Given the description of an element on the screen output the (x, y) to click on. 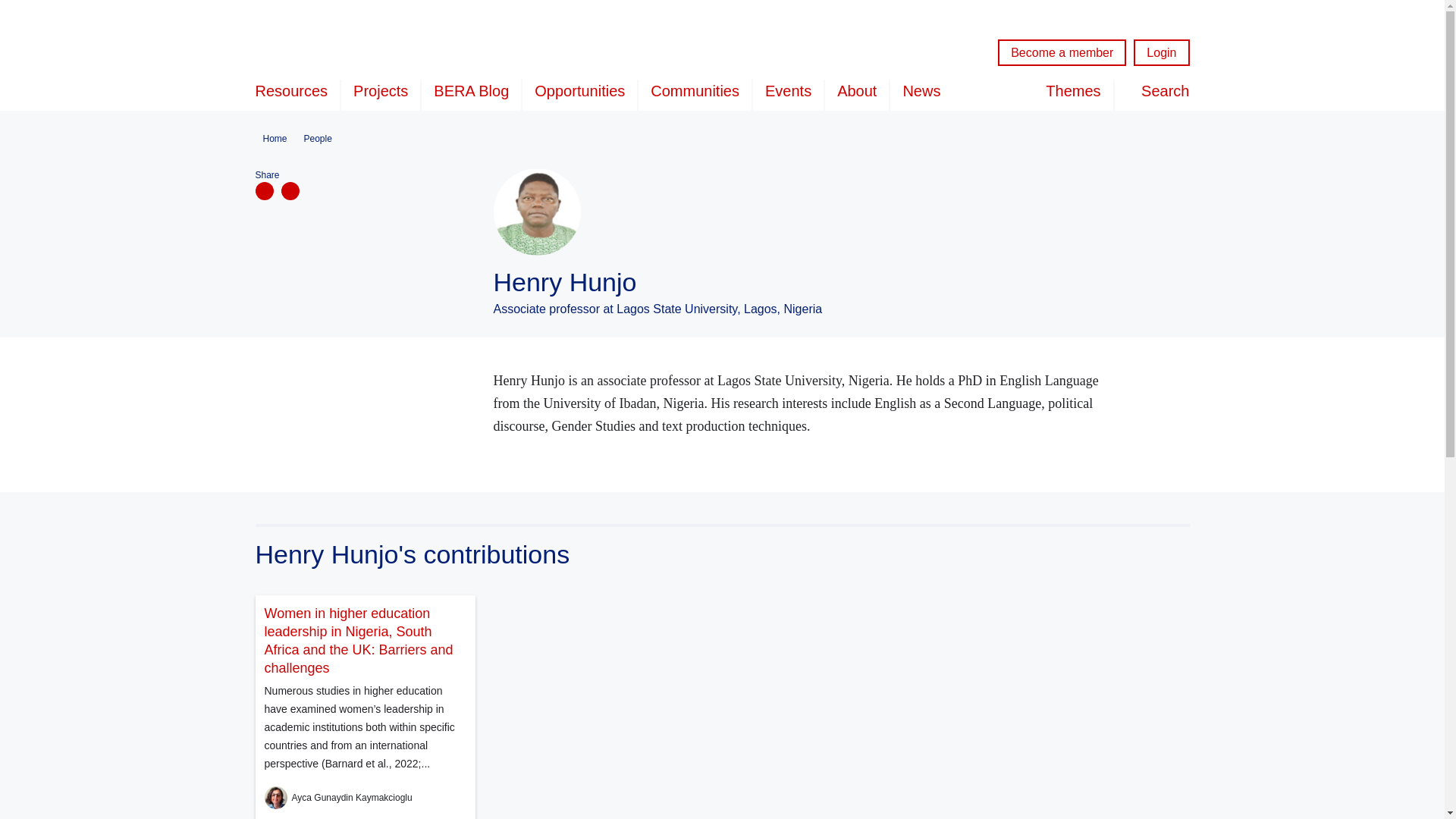
Opportunities (579, 94)
Become a member (1061, 52)
BERA Blog (471, 94)
Login (1161, 52)
Share on Twitter (289, 190)
Share on Facebook (263, 190)
Projects (380, 94)
Resources (296, 94)
Events (788, 94)
